Given the description of an element on the screen output the (x, y) to click on. 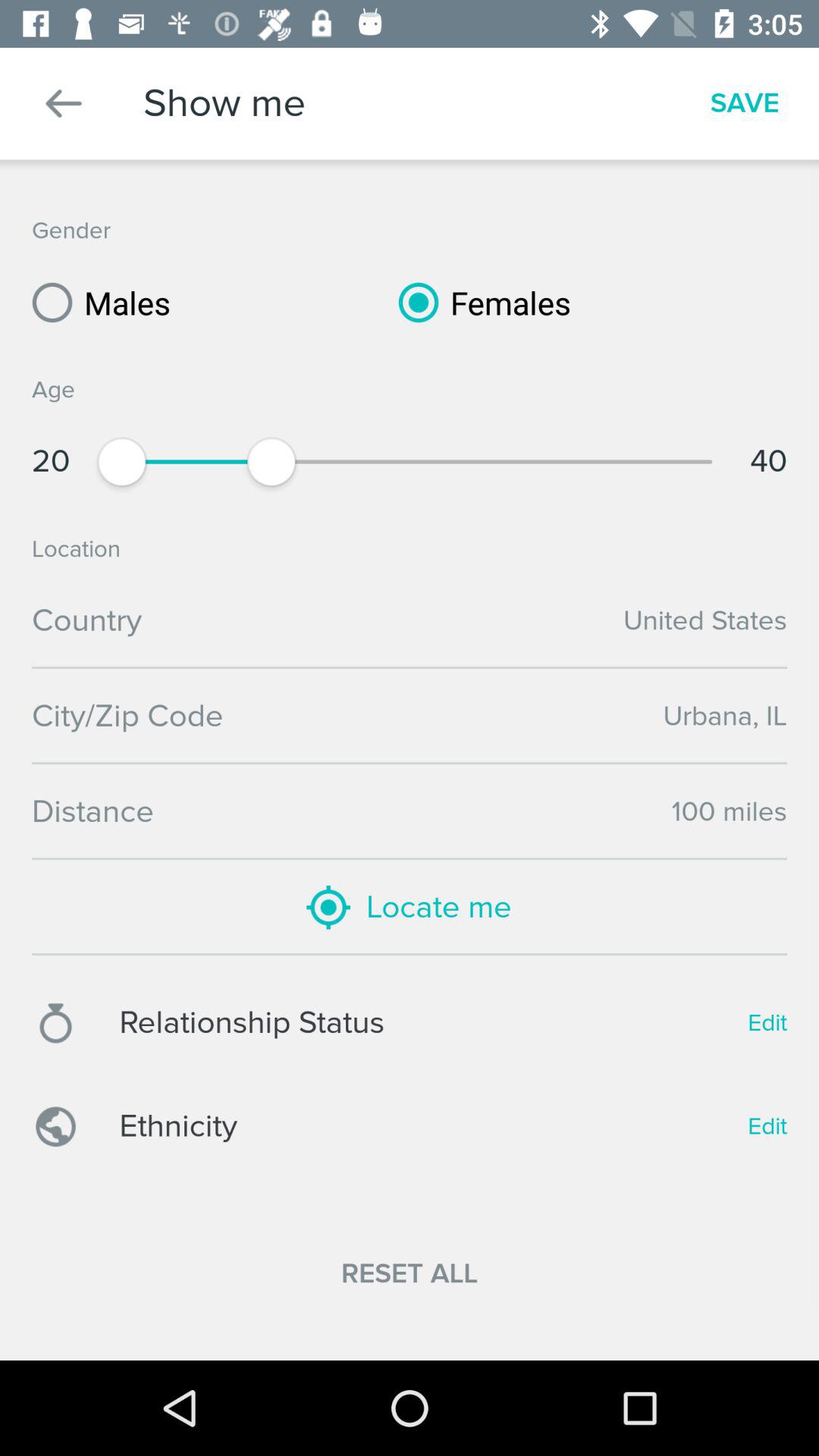
launch item next to show me (63, 103)
